Given the description of an element on the screen output the (x, y) to click on. 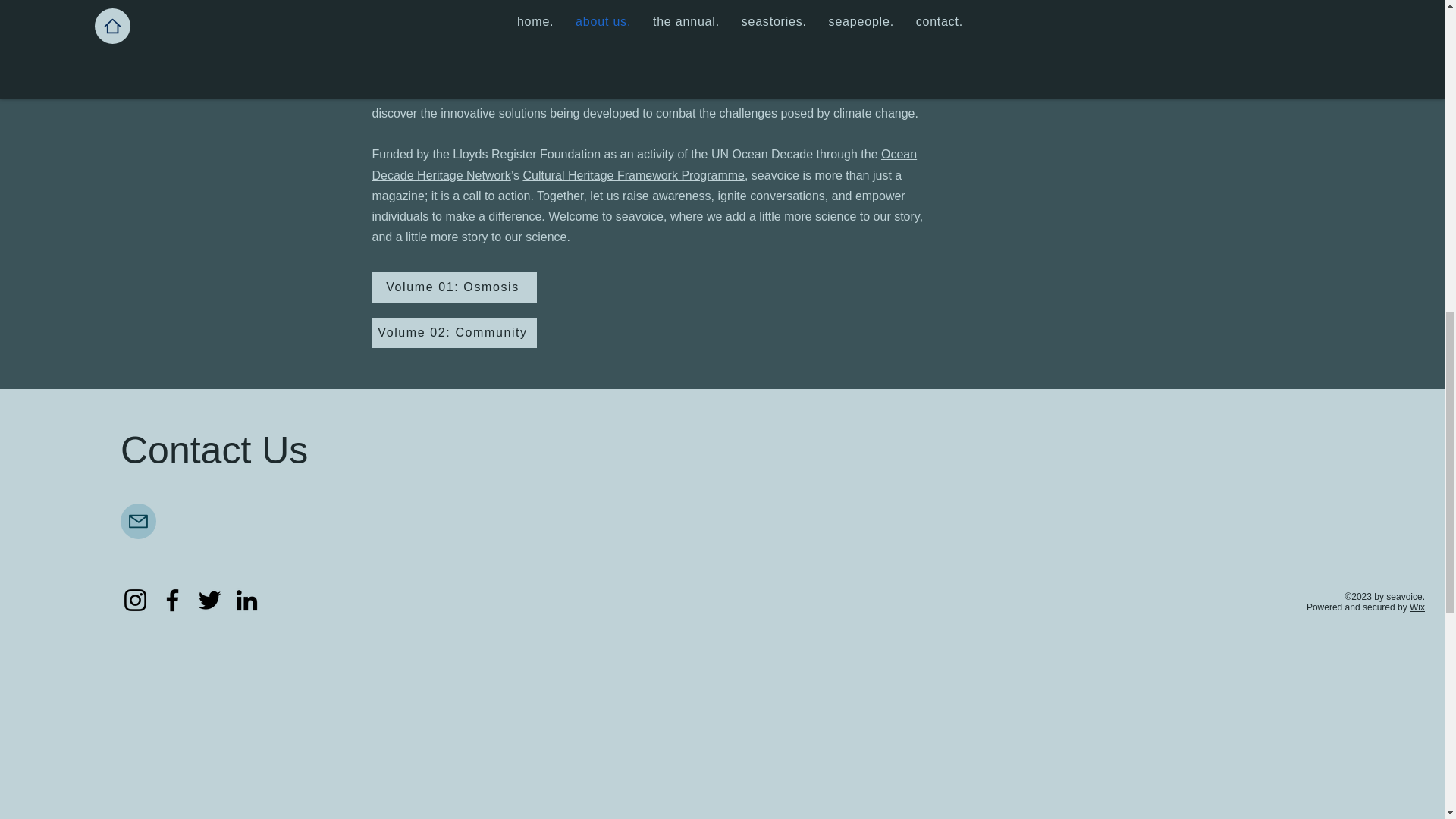
Volume 01: Osmosis (453, 286)
Cultural Heritage Framework Programme (633, 174)
Ocean Decade Heritage Network (644, 164)
Volume 02: Community (453, 332)
Wix (1417, 606)
